Given the description of an element on the screen output the (x, y) to click on. 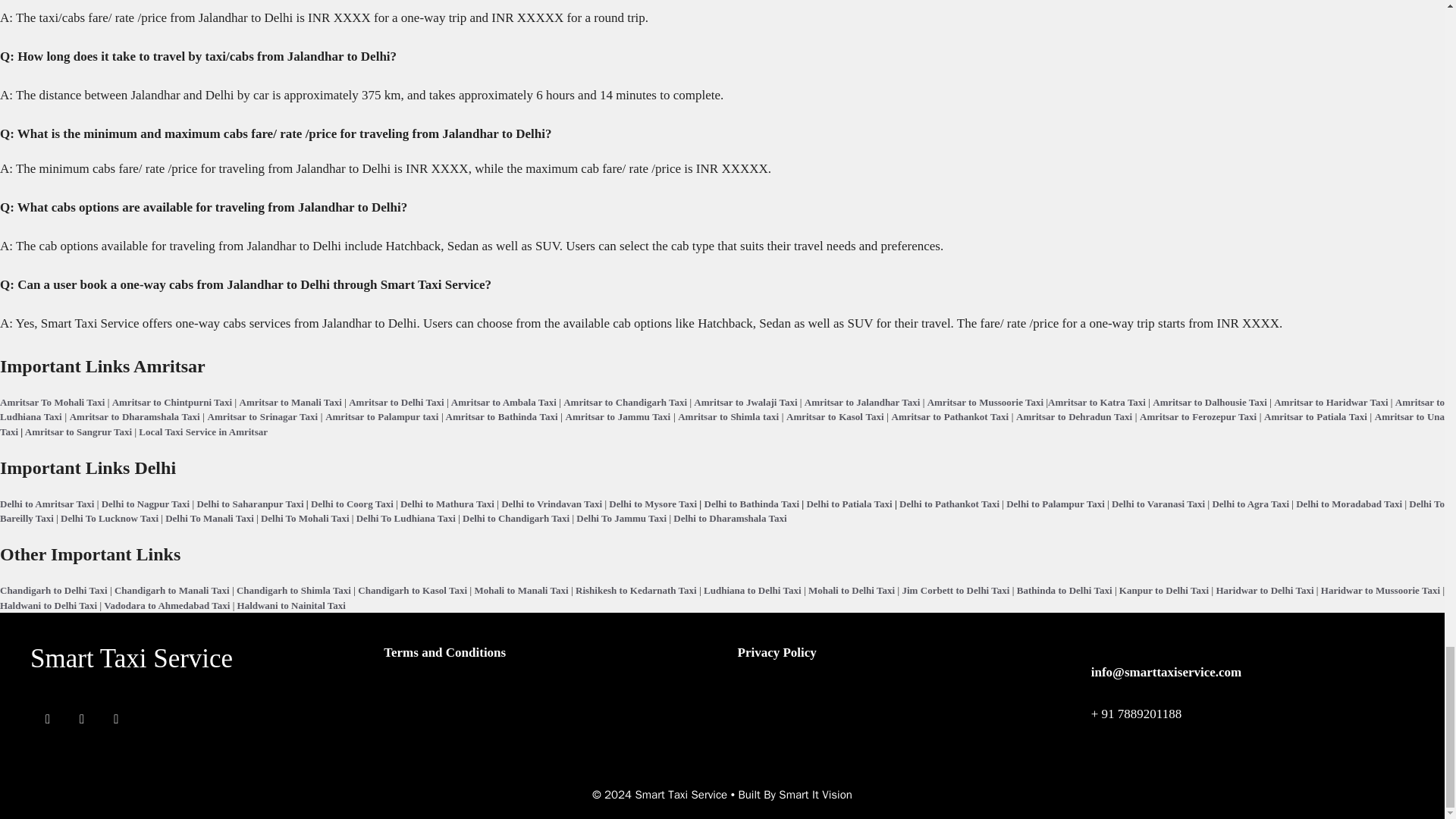
Amritsar to Mussoorie Taxi (985, 401)
Delhi to Nagpur Taxi (145, 502)
Amritsar to Shimla taxi (728, 416)
Amritsar to Jammu Taxi (618, 416)
Amritsar to Delhi Taxi (396, 401)
Amritsar to Kasol Taxi (834, 416)
Amritsar to Jalandhar Taxi (862, 401)
Amritsar to Ambala Taxi (503, 401)
Amritsar to Srinagar Taxi (263, 416)
Delhi to Coorg Taxi (352, 502)
